Given the description of an element on the screen output the (x, y) to click on. 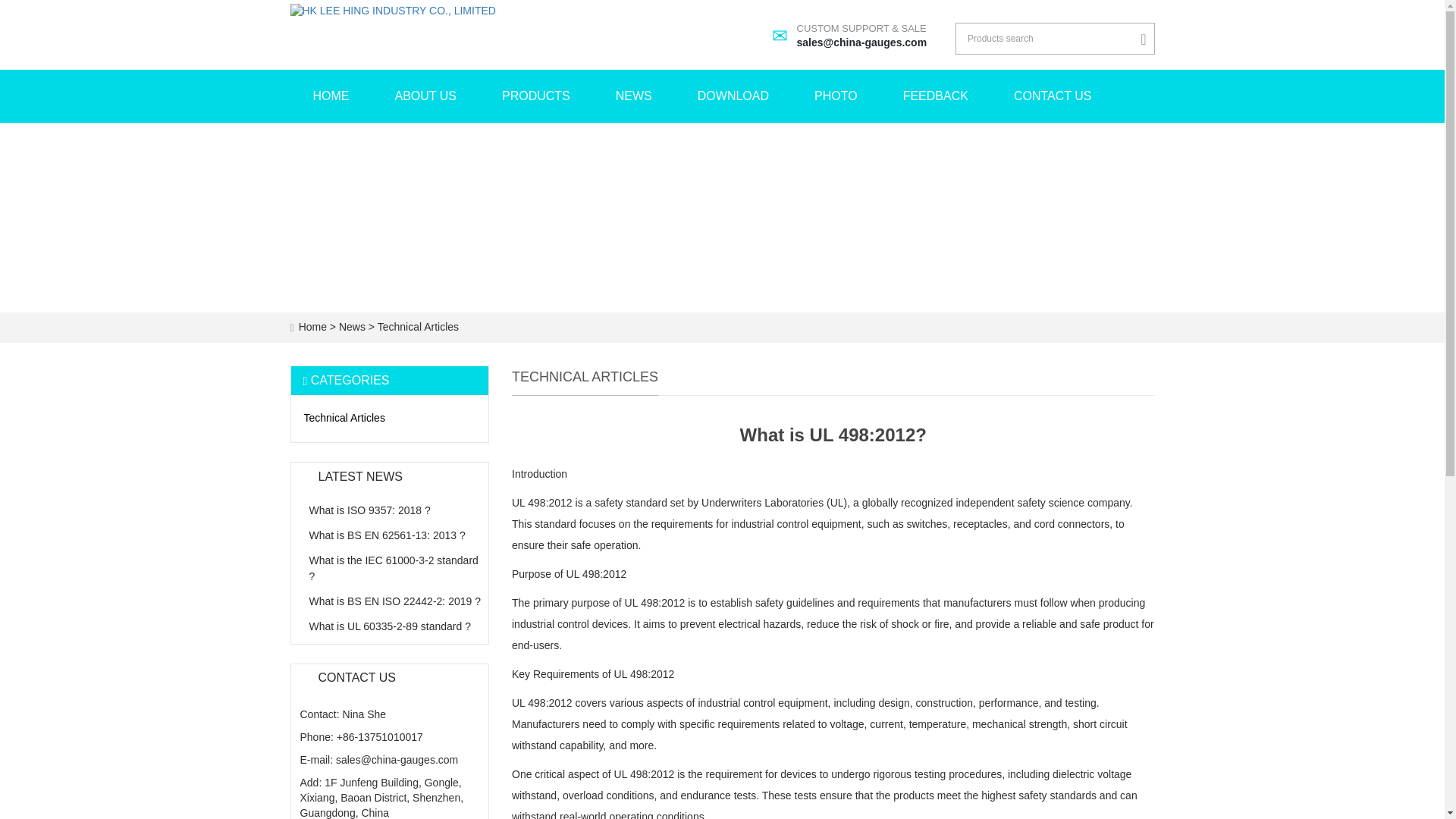
CONTACT US (393, 568)
Home (1053, 95)
DOWNLOAD (312, 326)
ABOUT US (733, 95)
NEWS (425, 95)
PHOTO (633, 95)
News (369, 510)
